Given the description of an element on the screen output the (x, y) to click on. 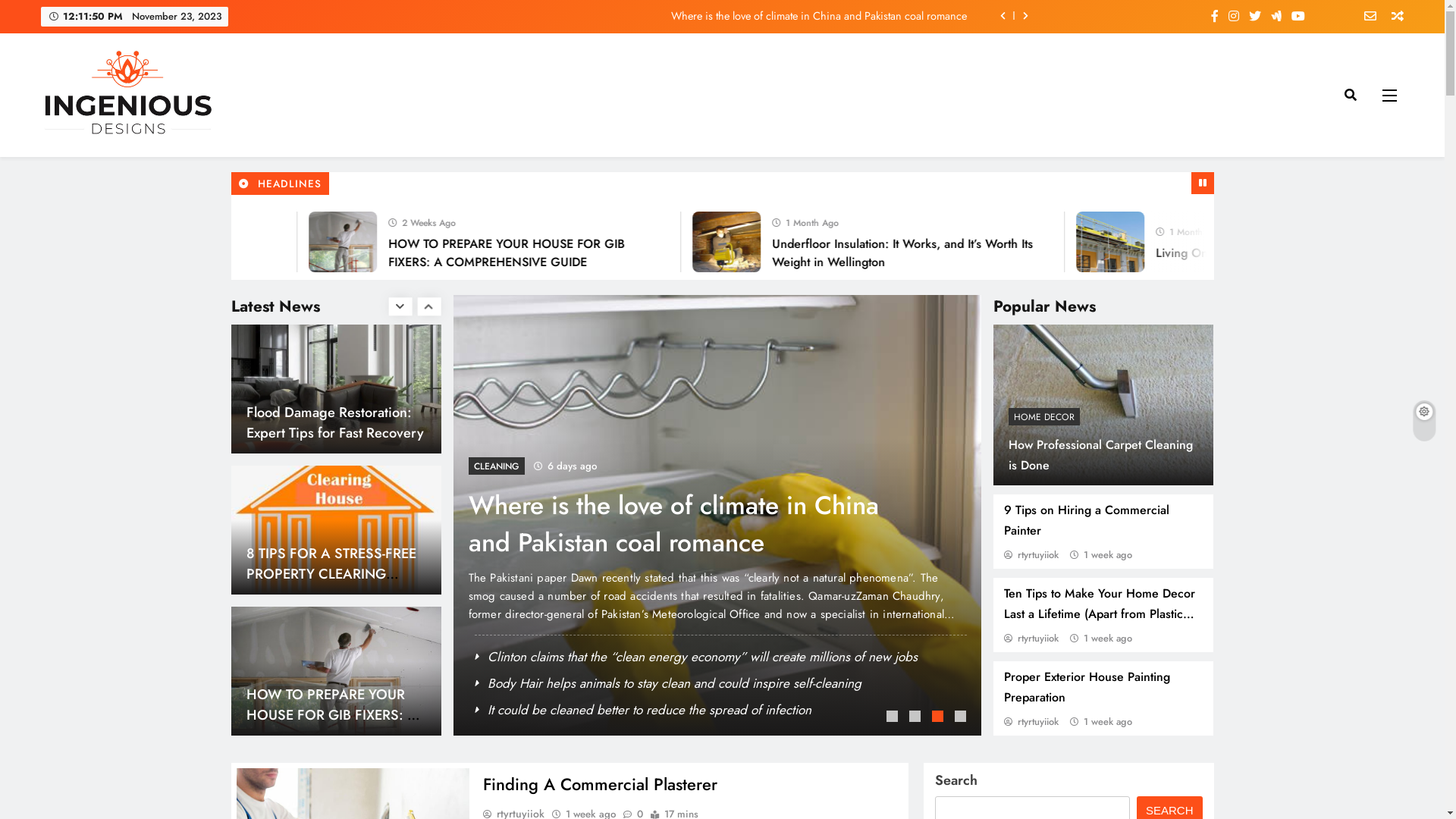
5 Reasons Why Aucklanders Should Hire Professional Painters Element type: hover (252, 241)
9 Tips on Hiring a Commercial Painter Element type: text (1086, 520)
It could be cleaned better to reduce the spread of infection Element type: text (856, 523)
It could be cleaned better to reduce the spread of infection Element type: text (414, 709)
CLEANING Element type: text (720, 465)
1 week ago Element type: text (1107, 721)
CLEANING Element type: text (446, 465)
Newsletter Element type: hover (1364, 16)
6 days ago Element type: text (765, 465)
Random News Element type: hover (1391, 16)
HOME DECOR Element type: text (1043, 416)
2 Weeks Ago Element type: text (1163, 221)
How Does Laundry Crystals Work for Washing Clothes? Element type: text (329, 704)
3 Element type: text (939, 717)
rtyrtuyiiok Element type: text (1031, 637)
6 days ago Element type: text (490, 465)
1 week ago Element type: text (1107, 637)
1 Element type: text (893, 717)
Ingenious Designs Element type: text (138, 160)
rtyrtuyiiok Element type: text (1031, 721)
How Professional Carpet Cleaning is Done Element type: text (1100, 454)
1 week ago Element type: text (1107, 554)
4 Element type: text (961, 717)
5 Reasons Why Aucklanders Should Hire Professional Painters Element type: text (853, 252)
Finding A Commercial Plasterer Element type: text (600, 783)
Finding A Commercial Plasterer Element type: text (174, 252)
5 Reasons Why Aucklanders Should Hire Professional Painters Element type: hover (250, 241)
1 Week Ago Element type: text (398, 221)
1 Week Ago Element type: text (780, 221)
Proper Exterior House Painting Preparation Element type: text (1087, 687)
2 Element type: text (916, 717)
rtyrtuyiiok Element type: text (1031, 554)
25 End of Lease Cleaning Tips Element type: text (323, 421)
